Given the description of an element on the screen output the (x, y) to click on. 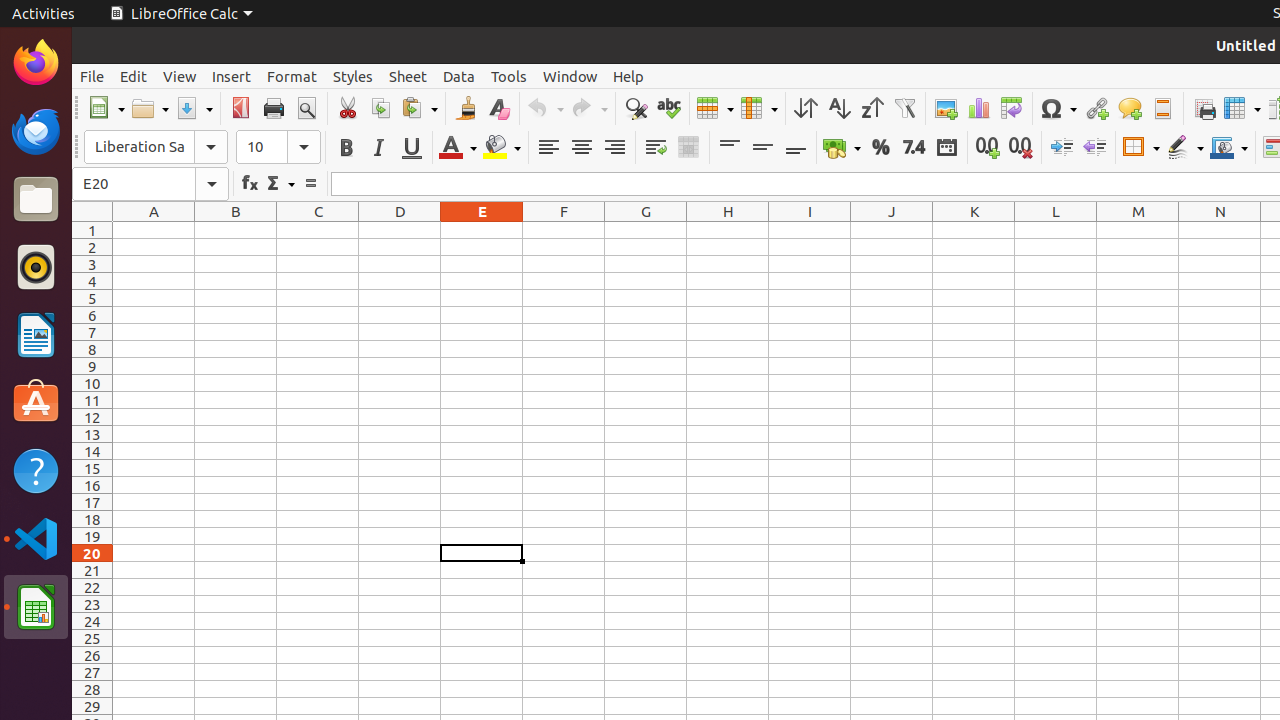
Spelling Element type: push-button (668, 108)
Center Vertically Element type: push-button (762, 147)
Italic Element type: toggle-button (378, 147)
PDF Element type: push-button (240, 108)
Data Element type: menu (459, 76)
